Given the description of an element on the screen output the (x, y) to click on. 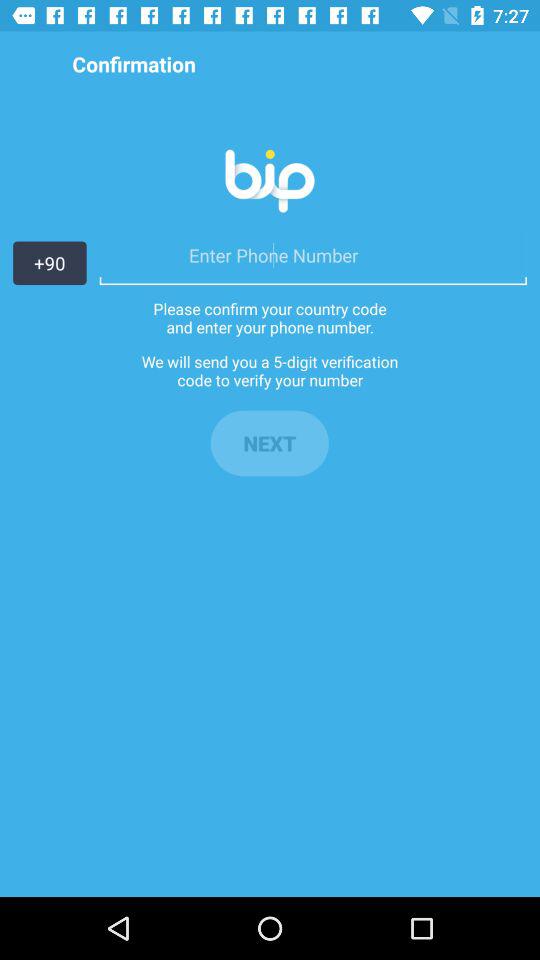
launch the item next to +90 (312, 255)
